Given the description of an element on the screen output the (x, y) to click on. 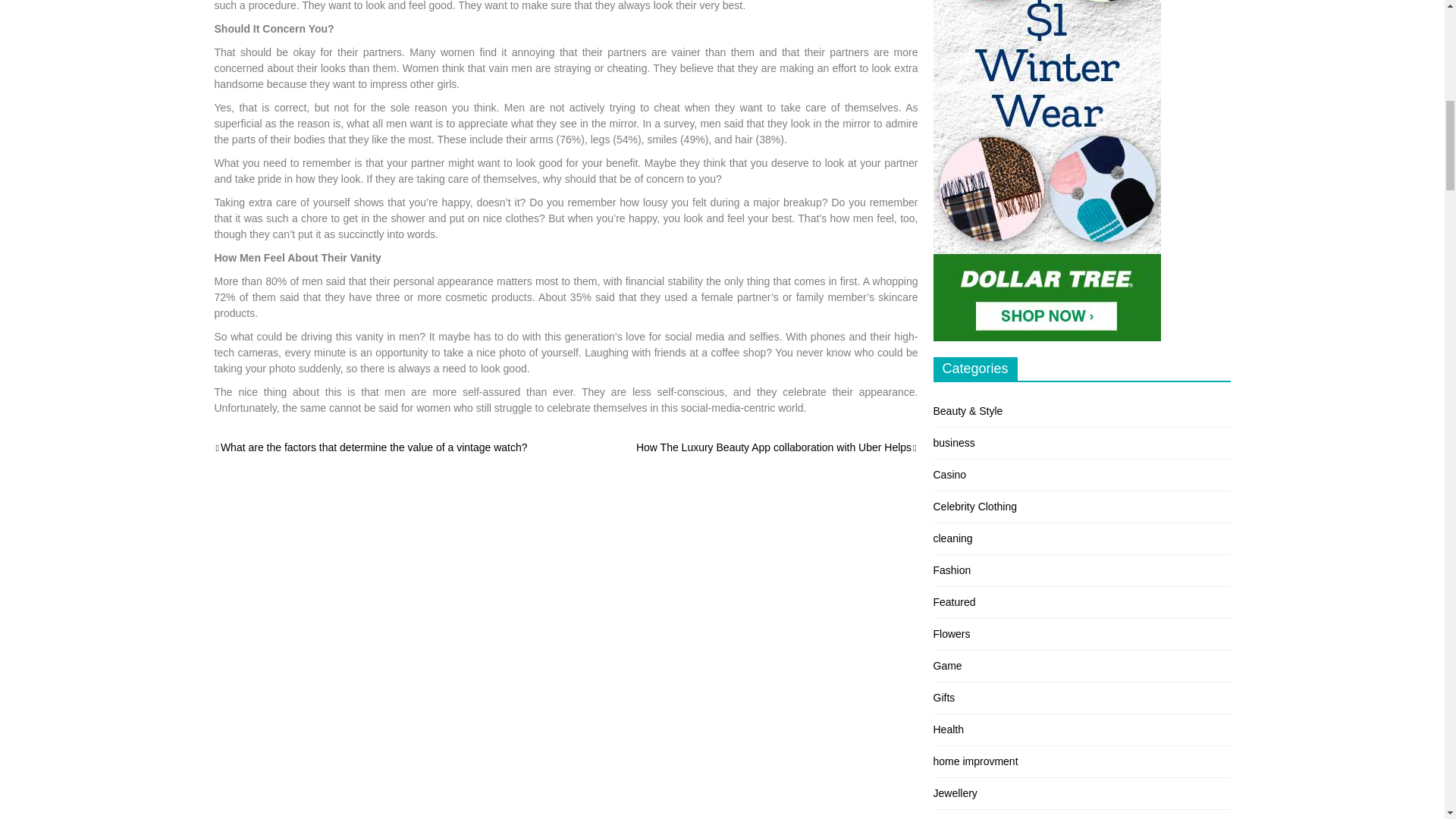
business (953, 442)
Gifts (944, 697)
Jewellery (954, 793)
Fashion (952, 570)
Celebrity Clothing (974, 506)
home improvment (975, 761)
How The Luxury Beauty App collaboration with Uber Helps (777, 447)
Featured (954, 602)
cleaning (952, 538)
